Given the description of an element on the screen output the (x, y) to click on. 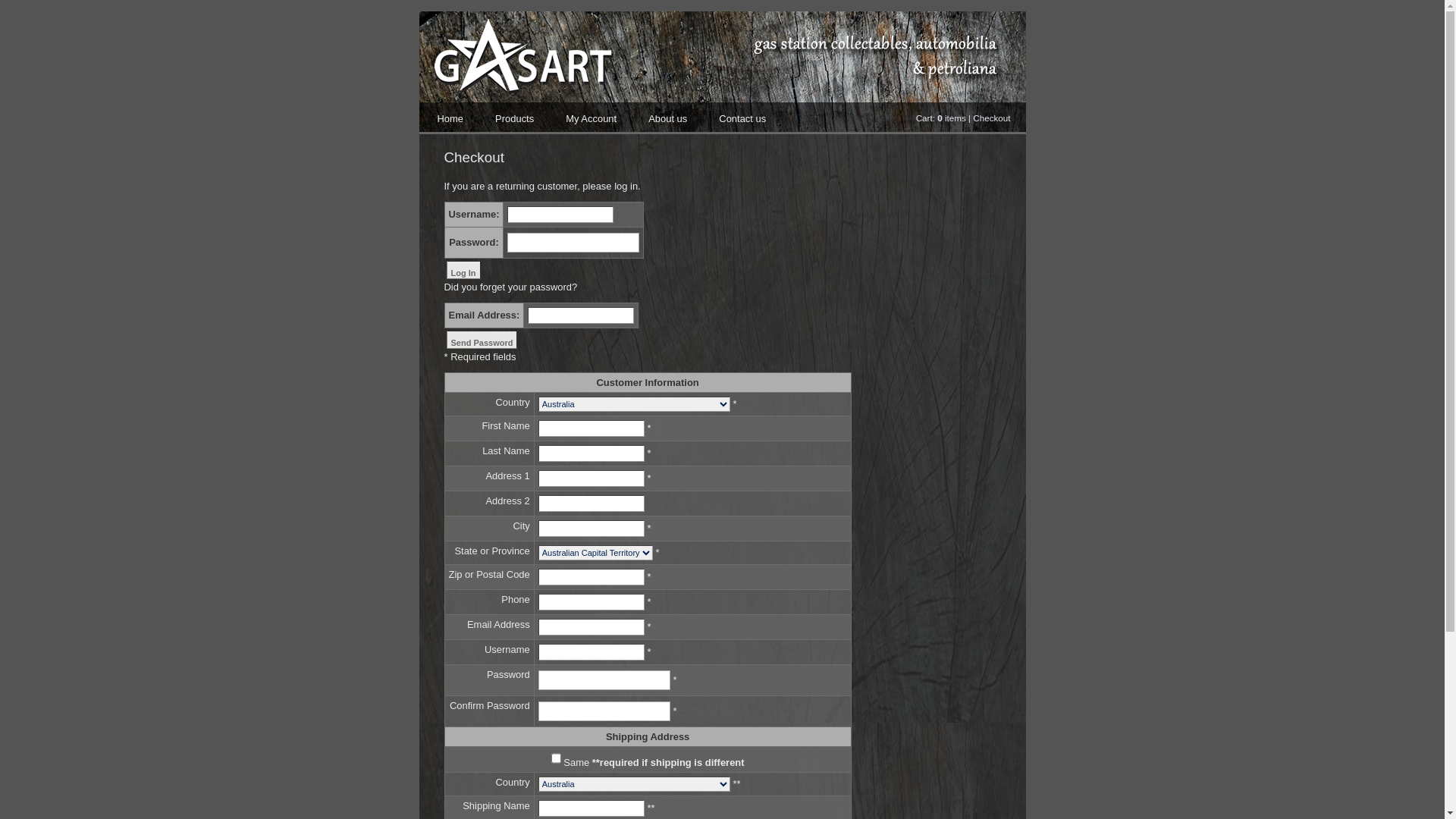
My Account Element type: text (590, 118)
Contact us Element type: text (742, 118)
Checkout Element type: text (991, 117)
Cart: 0 items Element type: text (941, 117)
Home Element type: text (450, 118)
Same Element type: text (556, 757)
Log In Element type: text (462, 269)
Send Password Element type: text (481, 339)
About us Element type: text (667, 118)
Products Element type: text (514, 118)
